Given the description of an element on the screen output the (x, y) to click on. 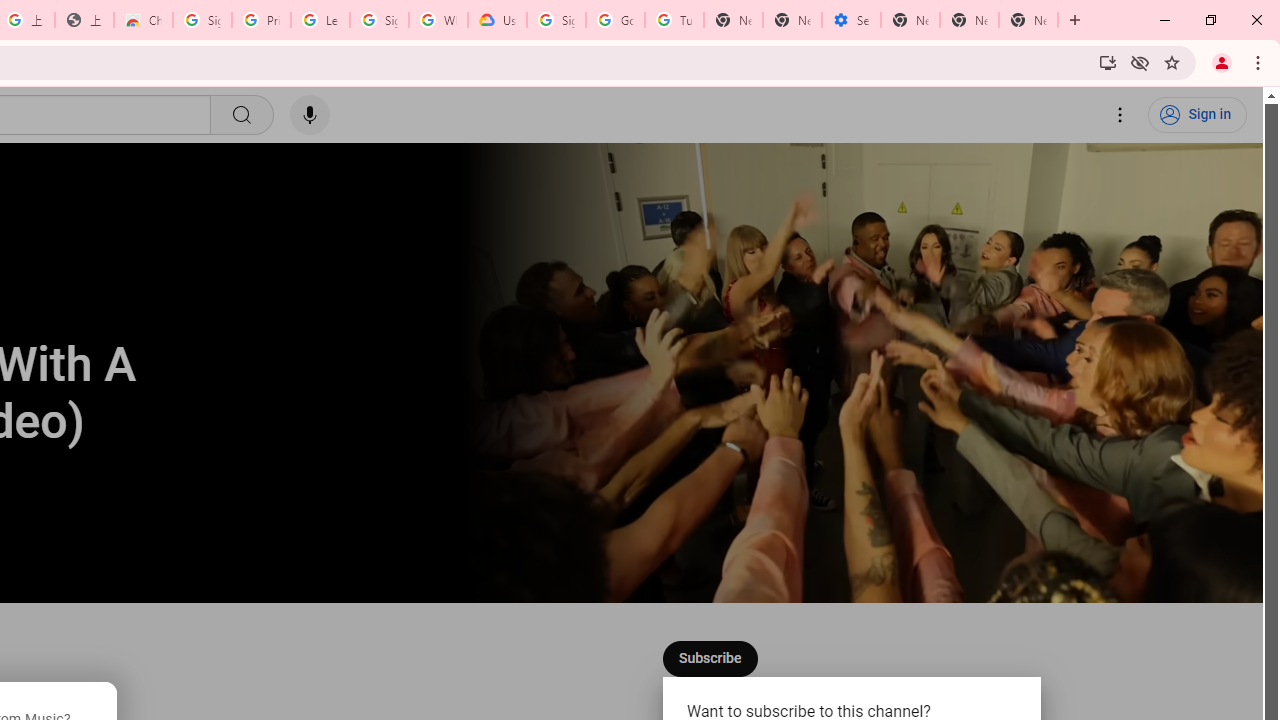
Settings - Addresses and more (850, 20)
Sign in - Google Accounts (379, 20)
Google Account Help (615, 20)
Chrome Web Store (142, 20)
Turn cookies on or off - Computer - Google Account Help (674, 20)
Who are Google's partners? - Privacy and conditions - Google (438, 20)
Install YouTube (1107, 62)
